Given the description of an element on the screen output the (x, y) to click on. 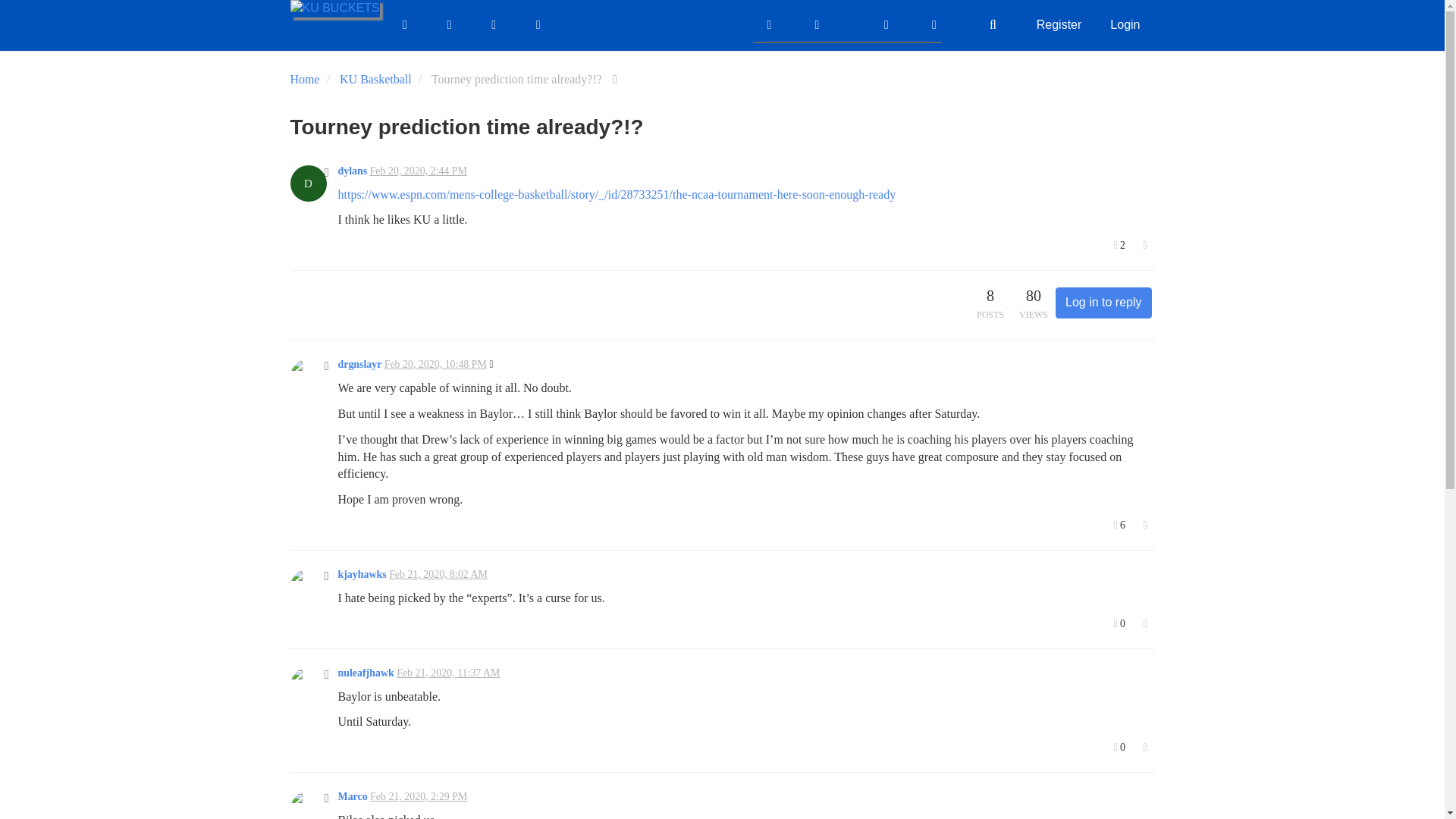
KU Basketball (375, 78)
Register (1059, 24)
Search (993, 24)
Log in to reply (1103, 302)
80 (1033, 295)
Feb 20, 2020, 2:44 PM (418, 170)
Feb 20, 2020, 10:48 PM (435, 364)
Home (303, 78)
drgnslayr (359, 364)
dylans (352, 170)
